Given the description of an element on the screen output the (x, y) to click on. 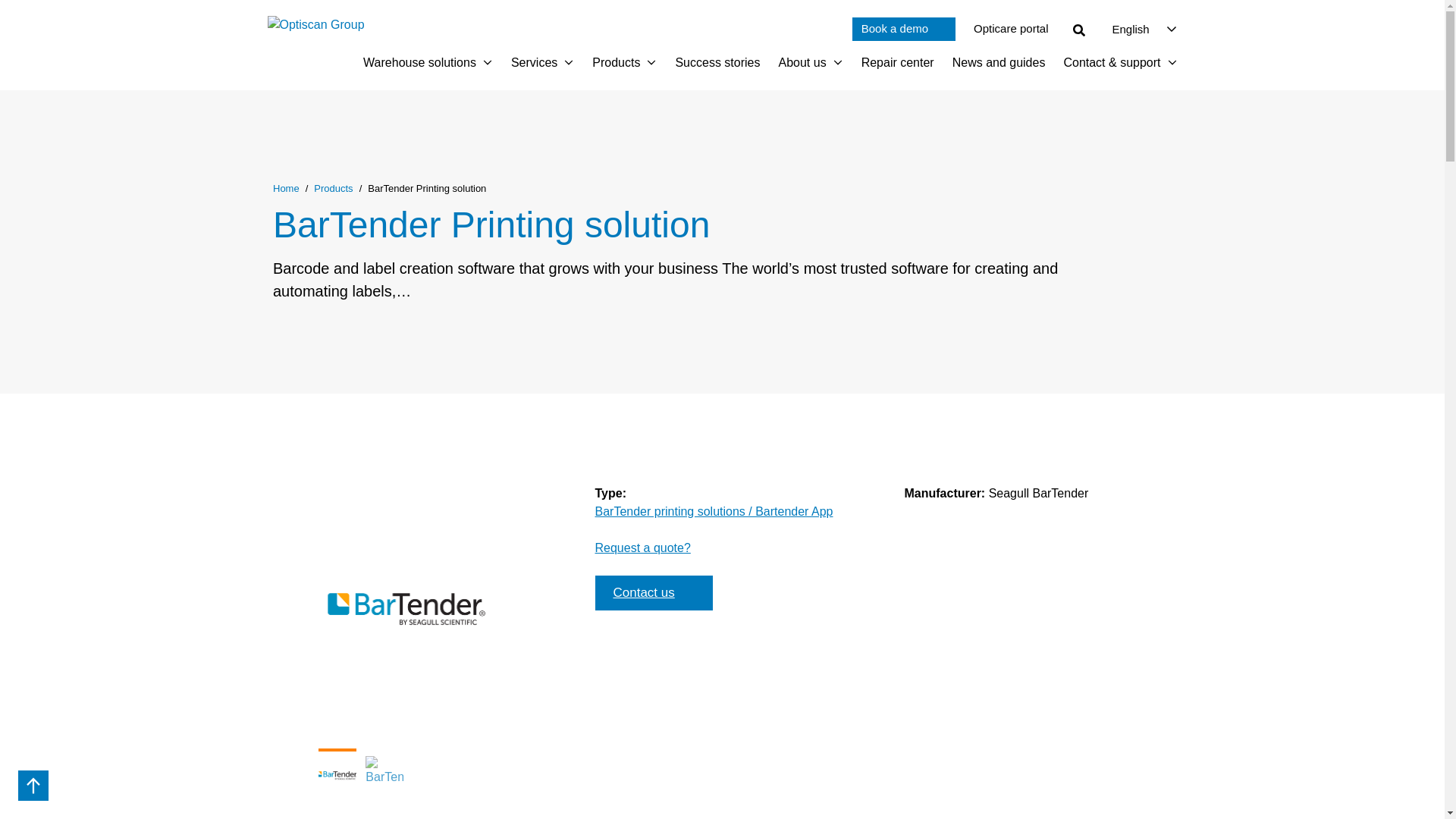
Opticare portal (1011, 28)
Warehouse solutions (487, 63)
Book a demo (419, 63)
Products (568, 63)
Services (903, 28)
English (616, 63)
